Given the description of an element on the screen output the (x, y) to click on. 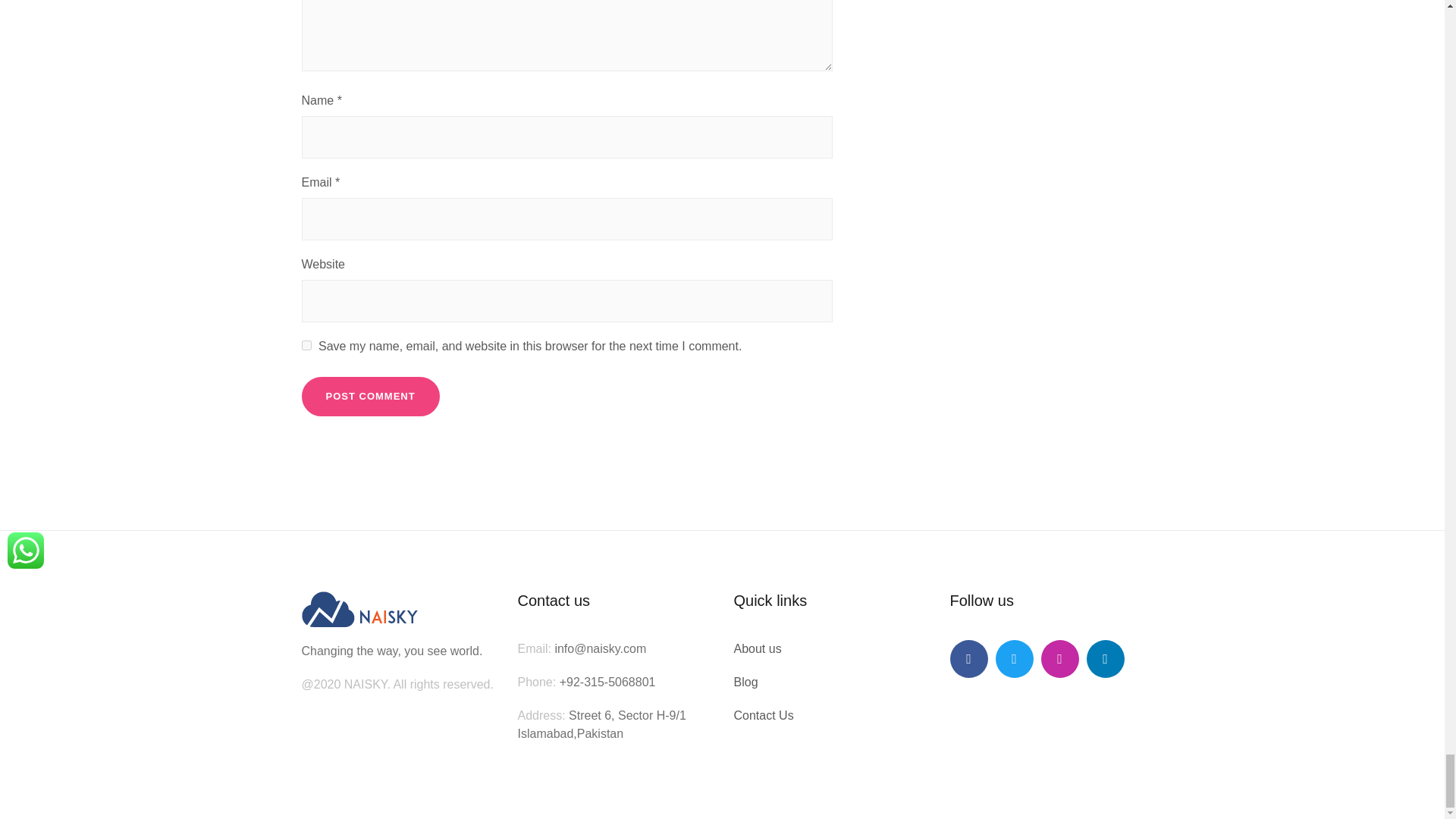
Post Comment (370, 396)
yes (306, 345)
